Given the description of an element on the screen output the (x, y) to click on. 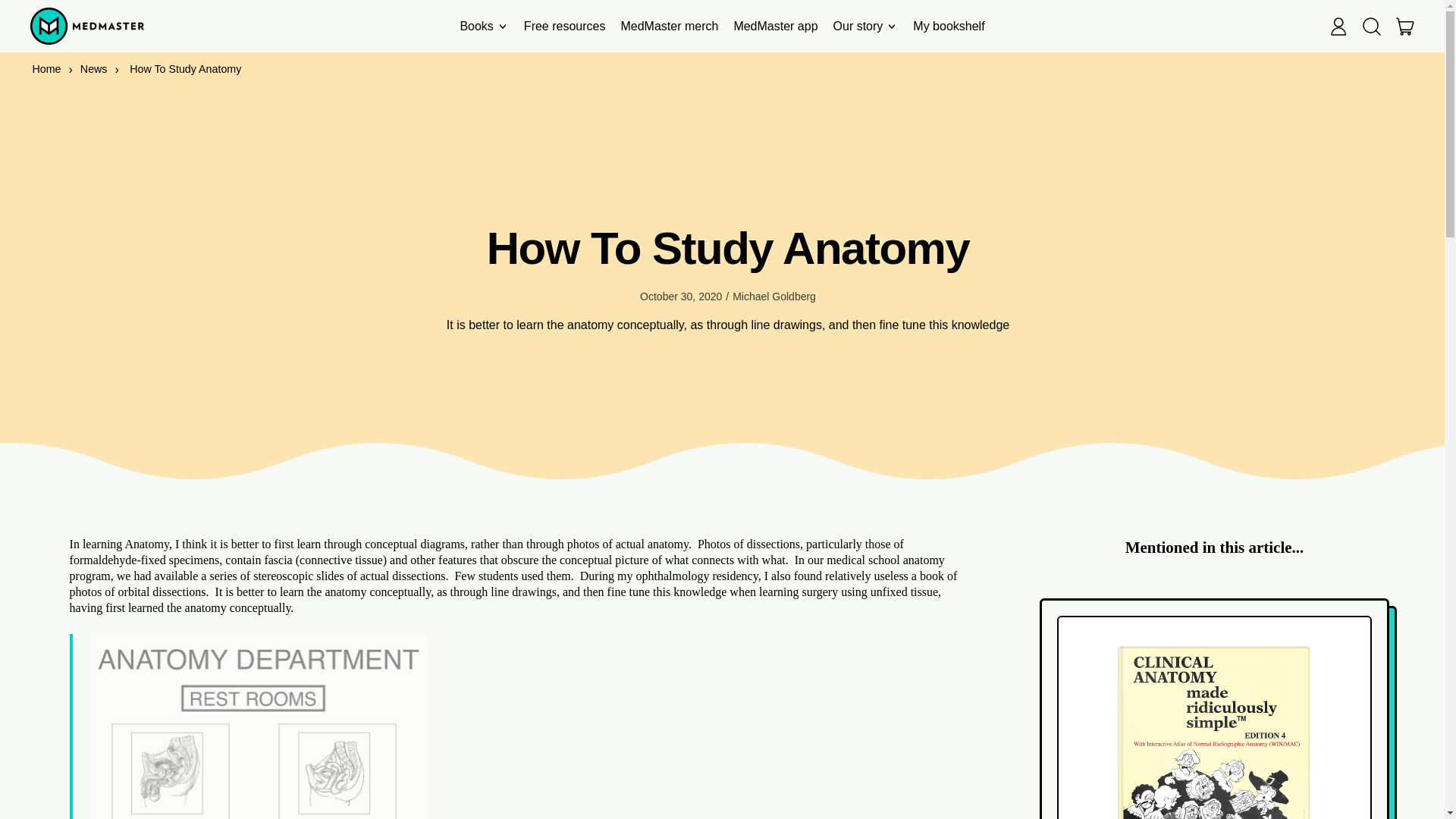
Books (483, 25)
My bookshelf (948, 25)
Log in (1338, 25)
Anatomy Restrooms (259, 726)
Free resources (564, 25)
News (93, 68)
Search our site (1372, 25)
Our story (865, 25)
MedMaster app (775, 25)
Home (46, 68)
